Given the description of an element on the screen output the (x, y) to click on. 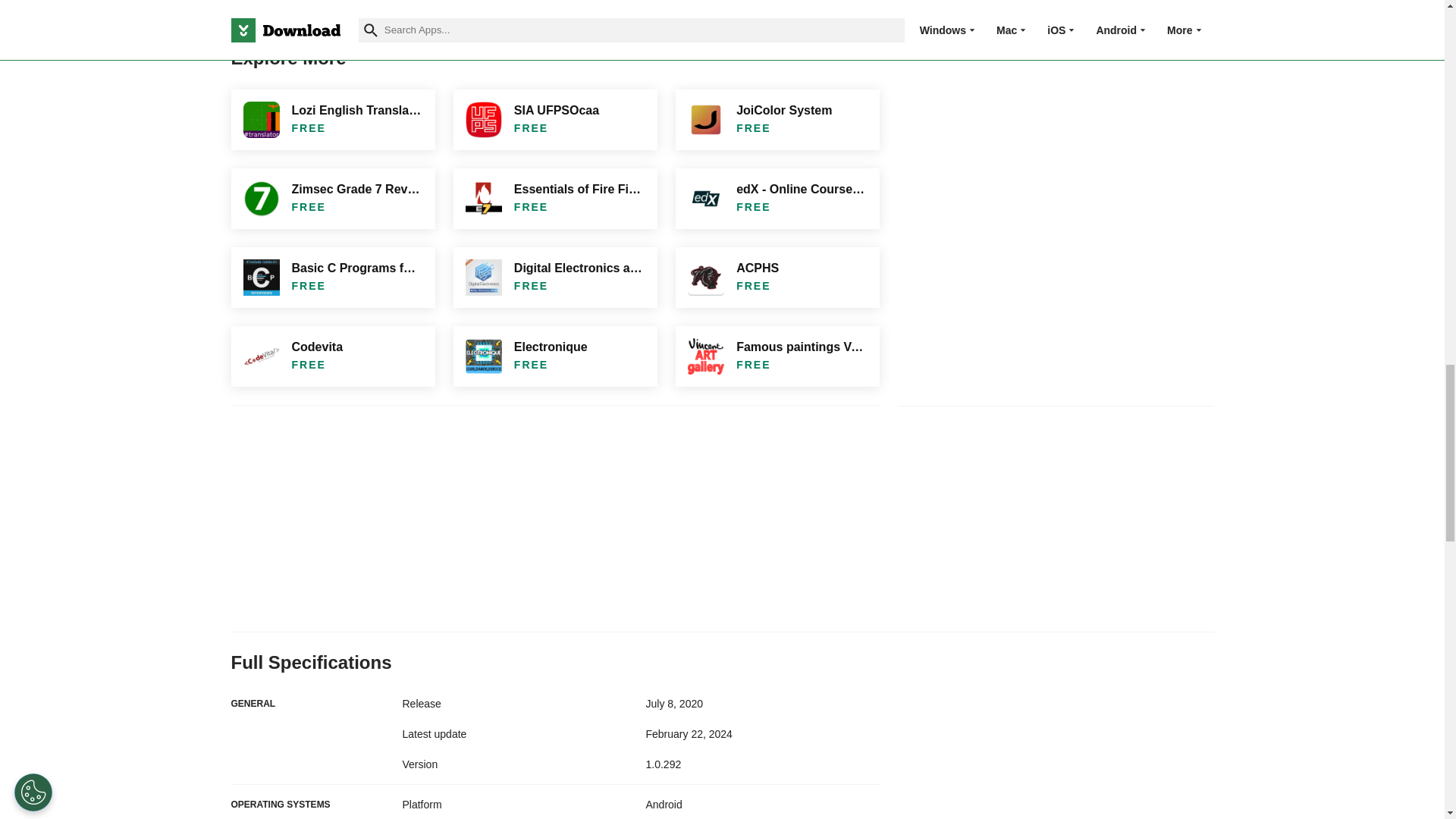
SIA UFPSOcaa (555, 119)
Lozi English Translator (331, 119)
Essentials of Fire Fighting 7th Edition (555, 198)
Zimsec Grade 7 Revision (331, 198)
Codevita (331, 355)
JoiColor System (777, 119)
Digital Electronics and Logic Design (555, 277)
Basic C Programs for TCS Placement with Output (331, 277)
ACPHS (777, 277)
Electronique (555, 355)
Famous paintings Van Gogh art (777, 355)
